Given the description of an element on the screen output the (x, y) to click on. 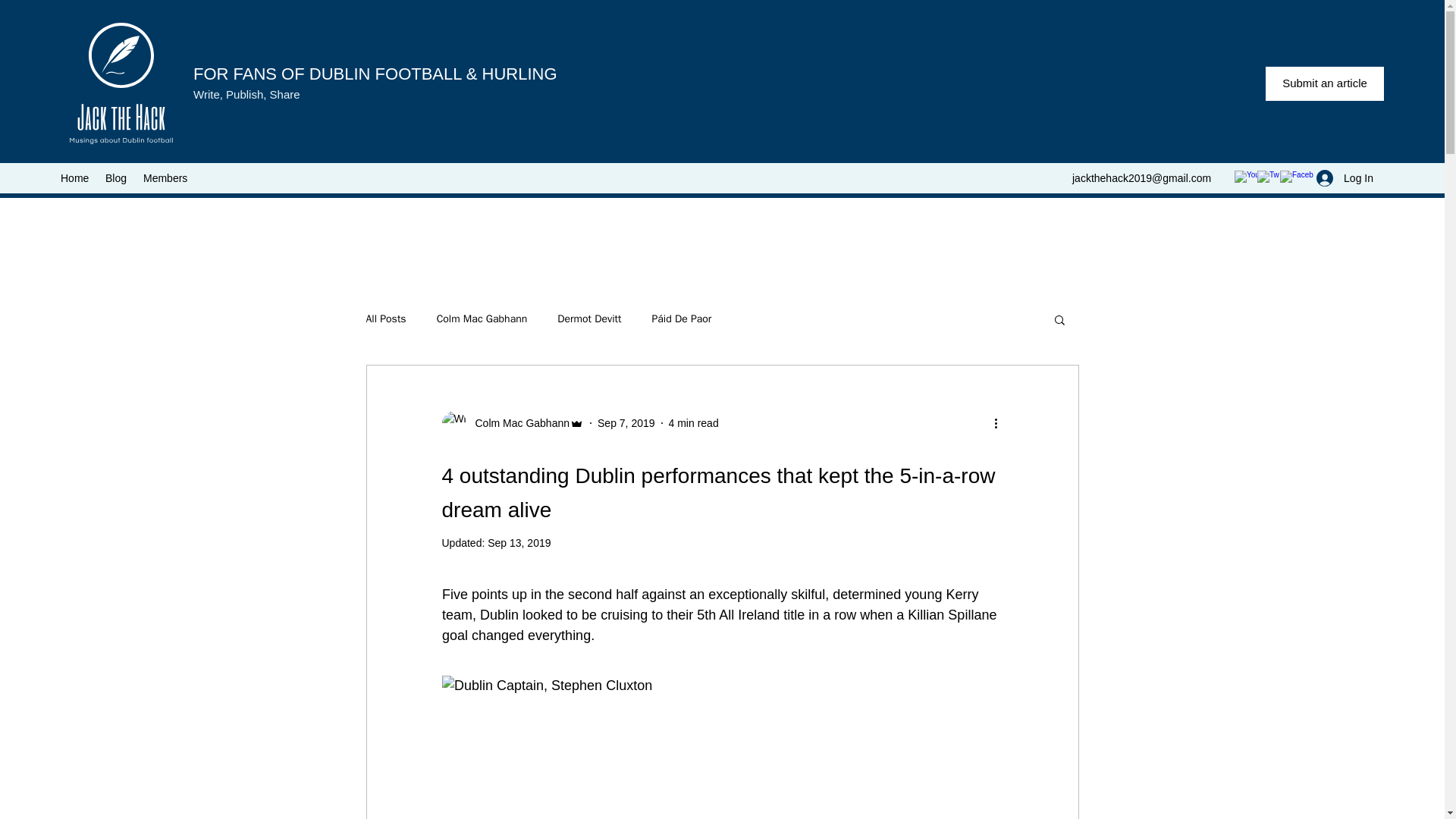
Sep 13, 2019 (518, 542)
Members (166, 178)
Sep 7, 2019 (625, 422)
Colm Mac Gabhann (517, 423)
All Posts (385, 318)
Home (74, 178)
Blog (116, 178)
Colm Mac Gabhann (481, 318)
Dermot Devitt (589, 318)
4 min read (693, 422)
